Given the description of an element on the screen output the (x, y) to click on. 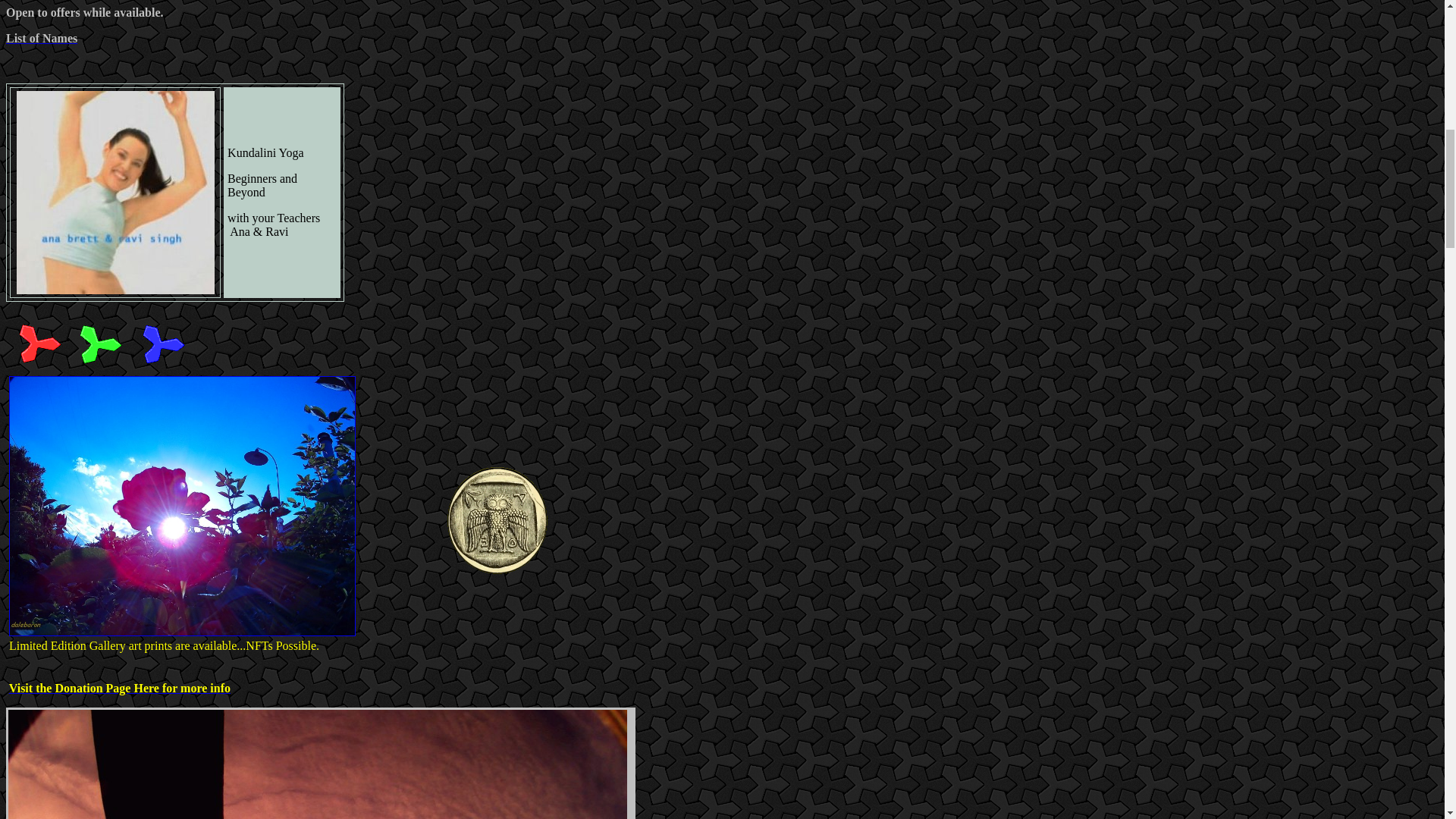
SlideShow (162, 364)
Thank you Dorris Day (98, 364)
Are you Sure? (38, 364)
List of Names (41, 38)
Not time, you are not ready, much to learn (499, 594)
Visit the Donation Page Here for more info (119, 687)
